Given the description of an element on the screen output the (x, y) to click on. 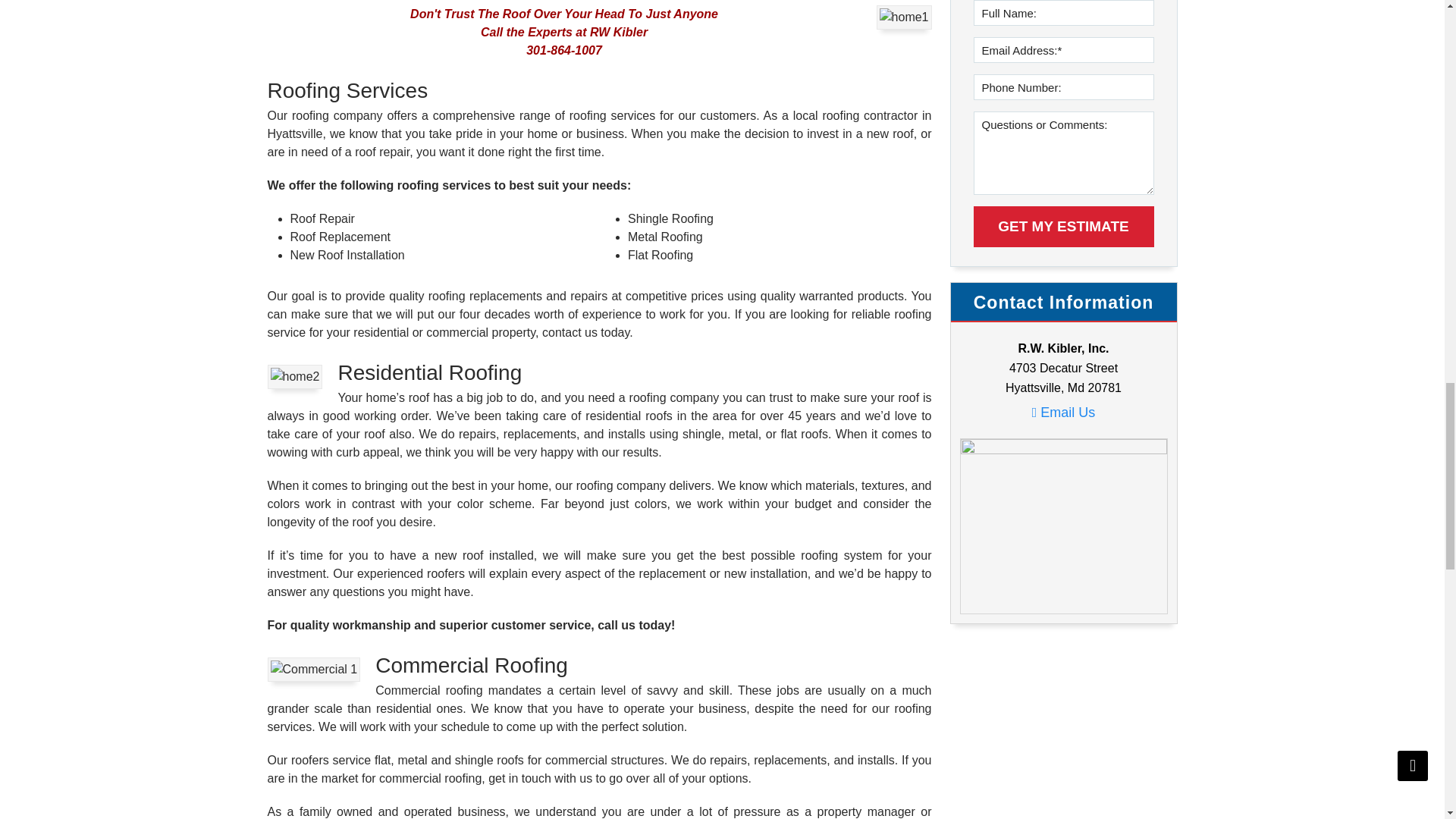
Get My Estimate (1064, 226)
Email Us (1064, 412)
Get My Estimate (1064, 226)
